Given the description of an element on the screen output the (x, y) to click on. 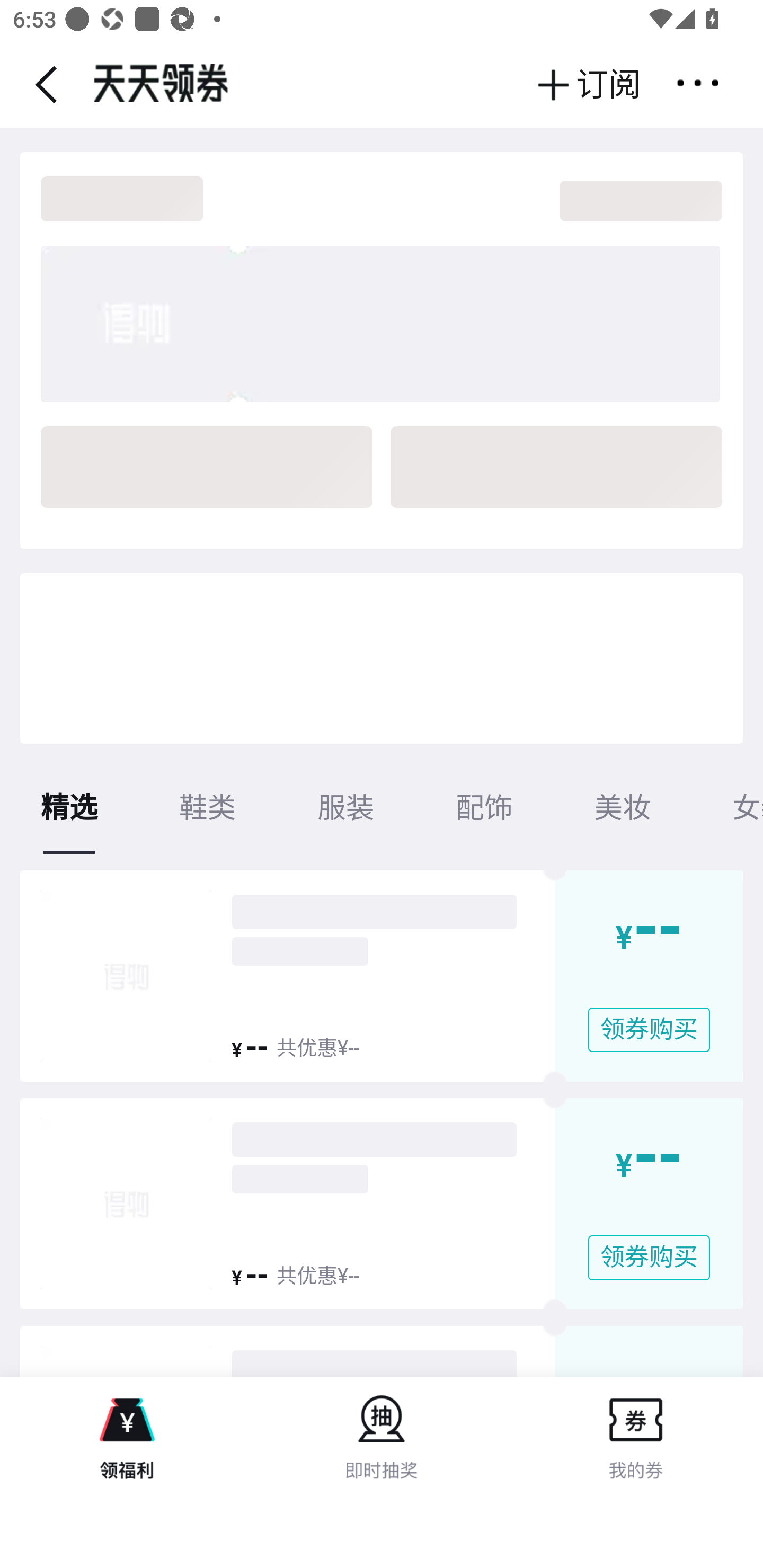
resize,w_54 订阅 (588, 85)
精选 (69, 808)
鞋类 (208, 808)
服装 (346, 808)
配饰 (484, 808)
美妆 (622, 808)
